Given the description of an element on the screen output the (x, y) to click on. 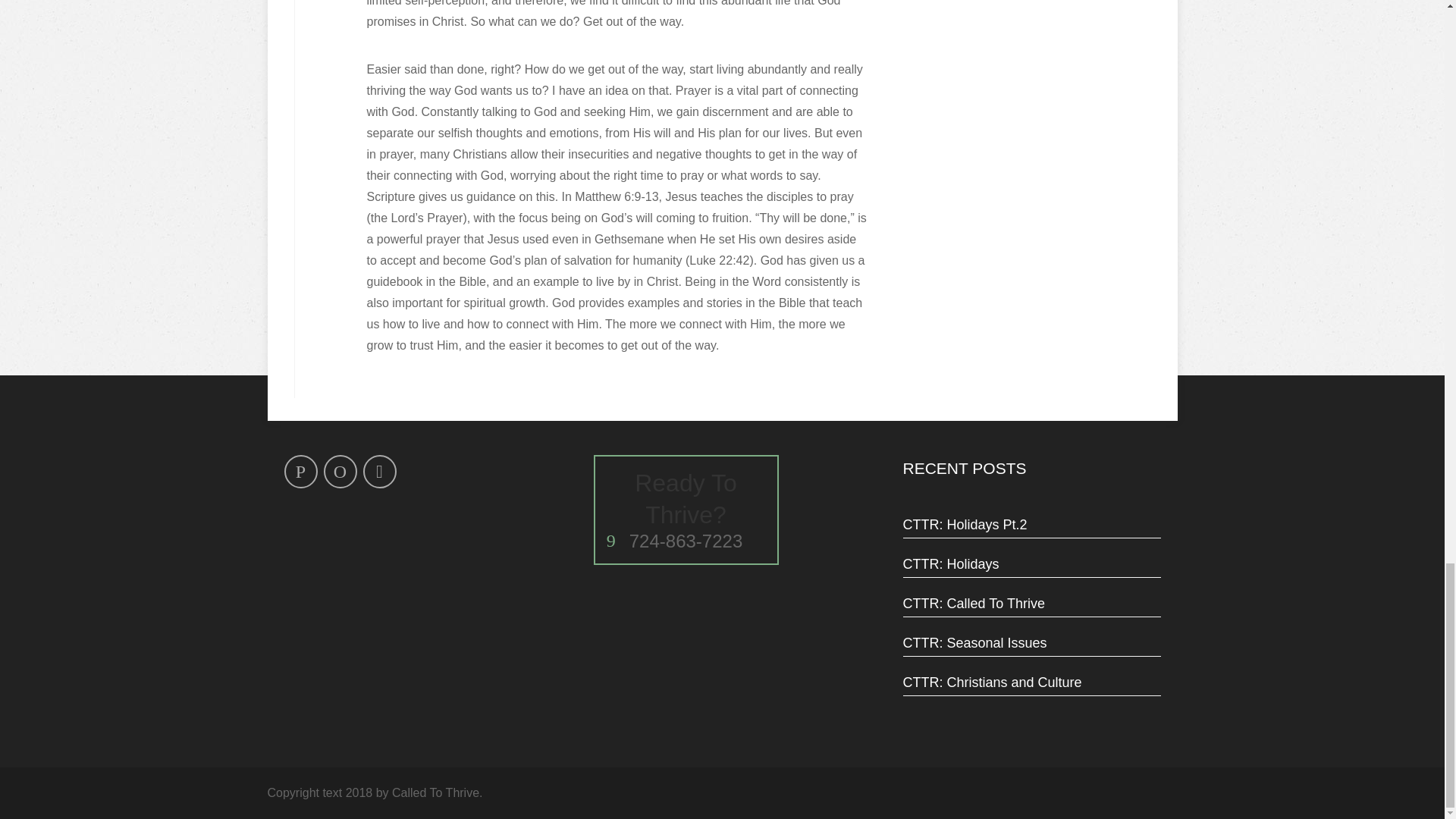
CTTR: Called To Thrive (1031, 603)
CTTR: Holidays (1031, 563)
CTTR: Holidays Pt.2 (1031, 524)
CTTR: Christians and Culture (685, 509)
CTTR: Seasonal Issues (1031, 682)
